Given the description of an element on the screen output the (x, y) to click on. 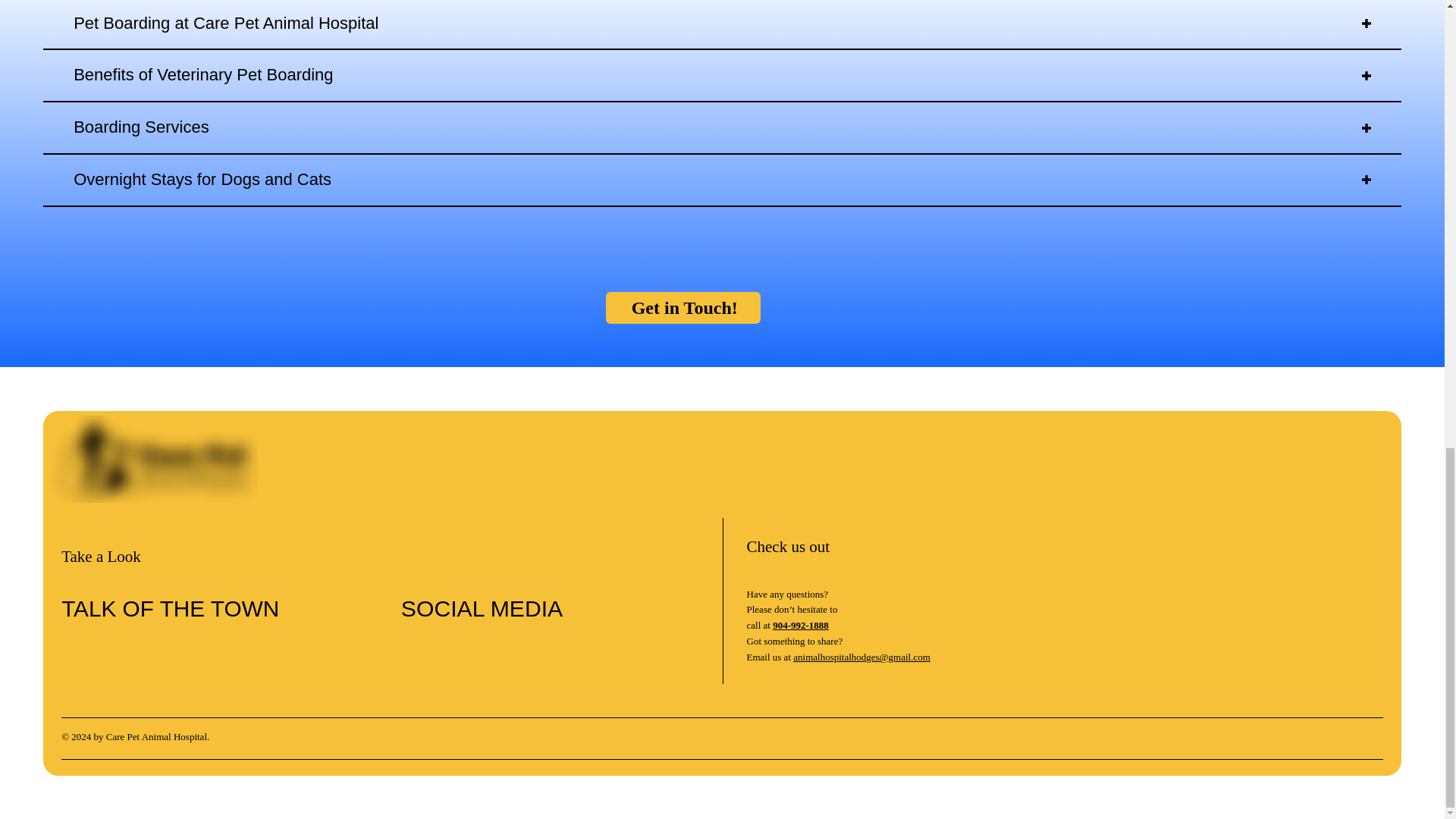
Boarding Services (721, 127)
TALK OF THE TOWN (170, 608)
Pet Boarding at Care Pet Animal Hospital (721, 24)
904-992-1888 (800, 624)
Overnight Stays for Dogs and Cats (721, 180)
Benefits of Veterinary Pet Boarding (721, 75)
Get in Touch! (682, 307)
